Given the description of an element on the screen output the (x, y) to click on. 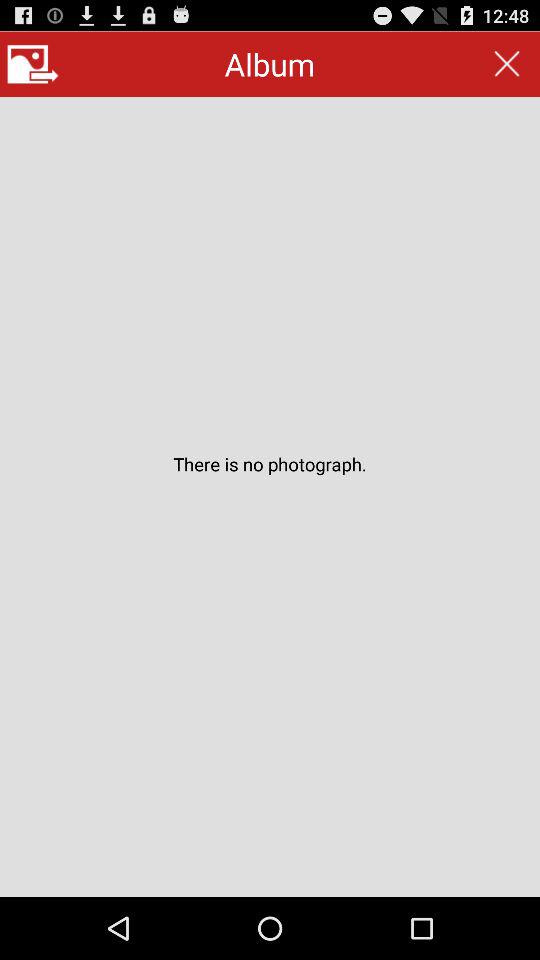
select photo (32, 64)
